Given the description of an element on the screen output the (x, y) to click on. 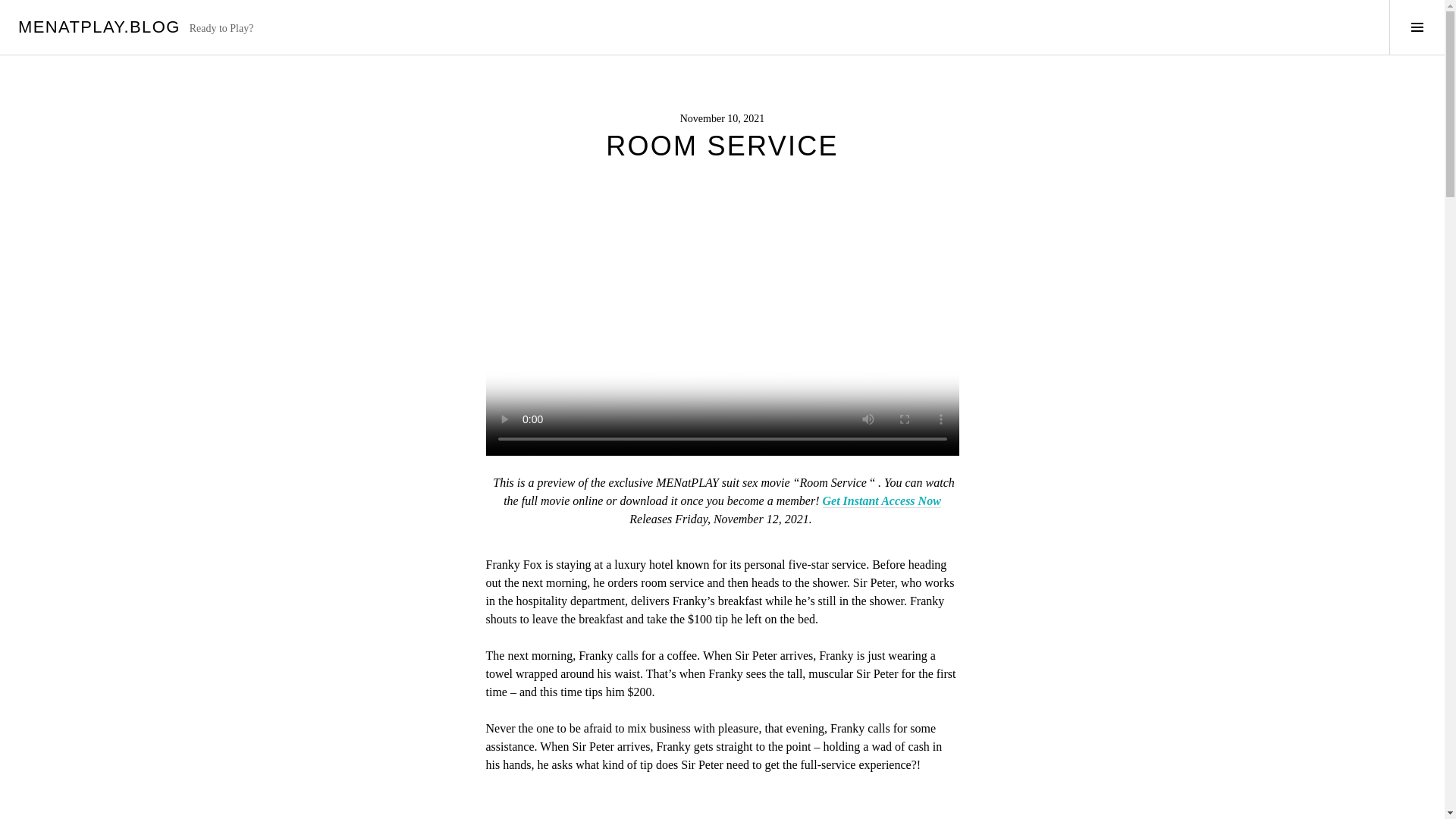
Get Instant Access Now (881, 500)
MENATPLAY.BLOG (98, 26)
